Given the description of an element on the screen output the (x, y) to click on. 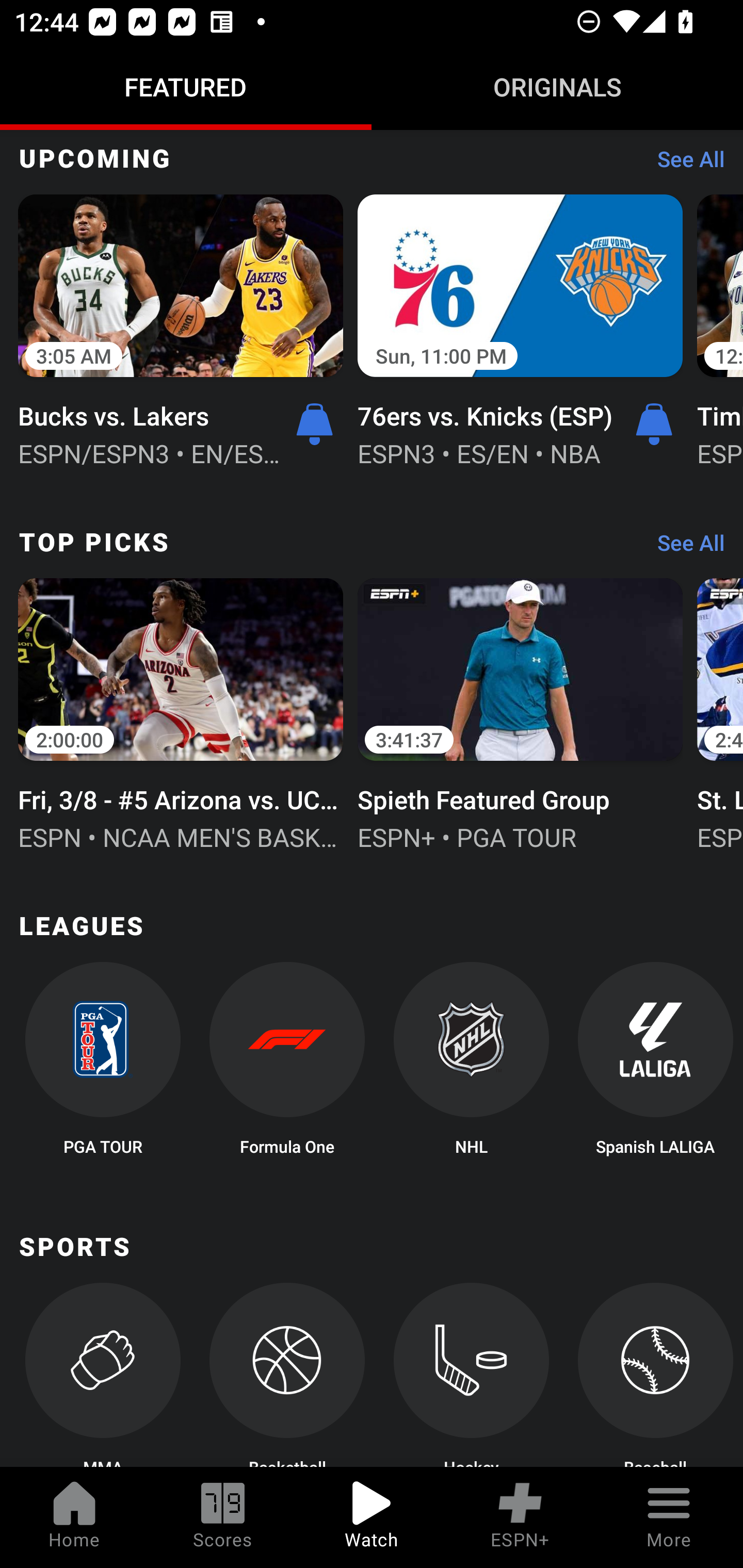
Originals ORIGINALS (557, 86)
See All (683, 163)
See All (683, 547)
3:41:37 Spieth Featured Group ESPN+ • PGA TOUR (519, 712)
PGA TOUR (102, 1064)
Formula One (286, 1064)
NHL (471, 1064)
Spanish LALIGA (655, 1064)
MMA (102, 1374)
Basketball (286, 1374)
Hockey (471, 1374)
Baseball (655, 1374)
Home (74, 1517)
Scores (222, 1517)
ESPN+ (519, 1517)
More (668, 1517)
